Given the description of an element on the screen output the (x, y) to click on. 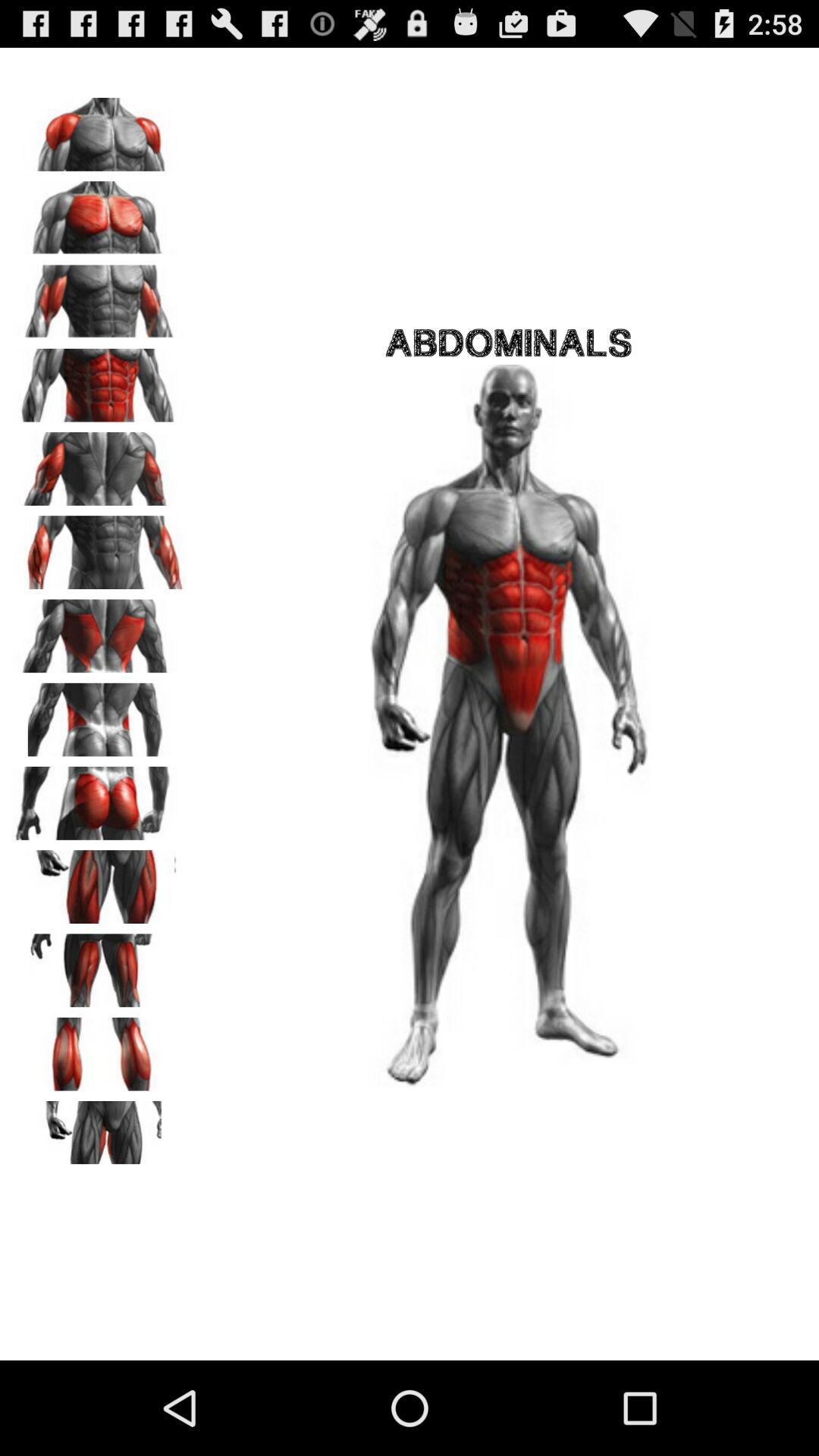
select body area (99, 1048)
